Given the description of an element on the screen output the (x, y) to click on. 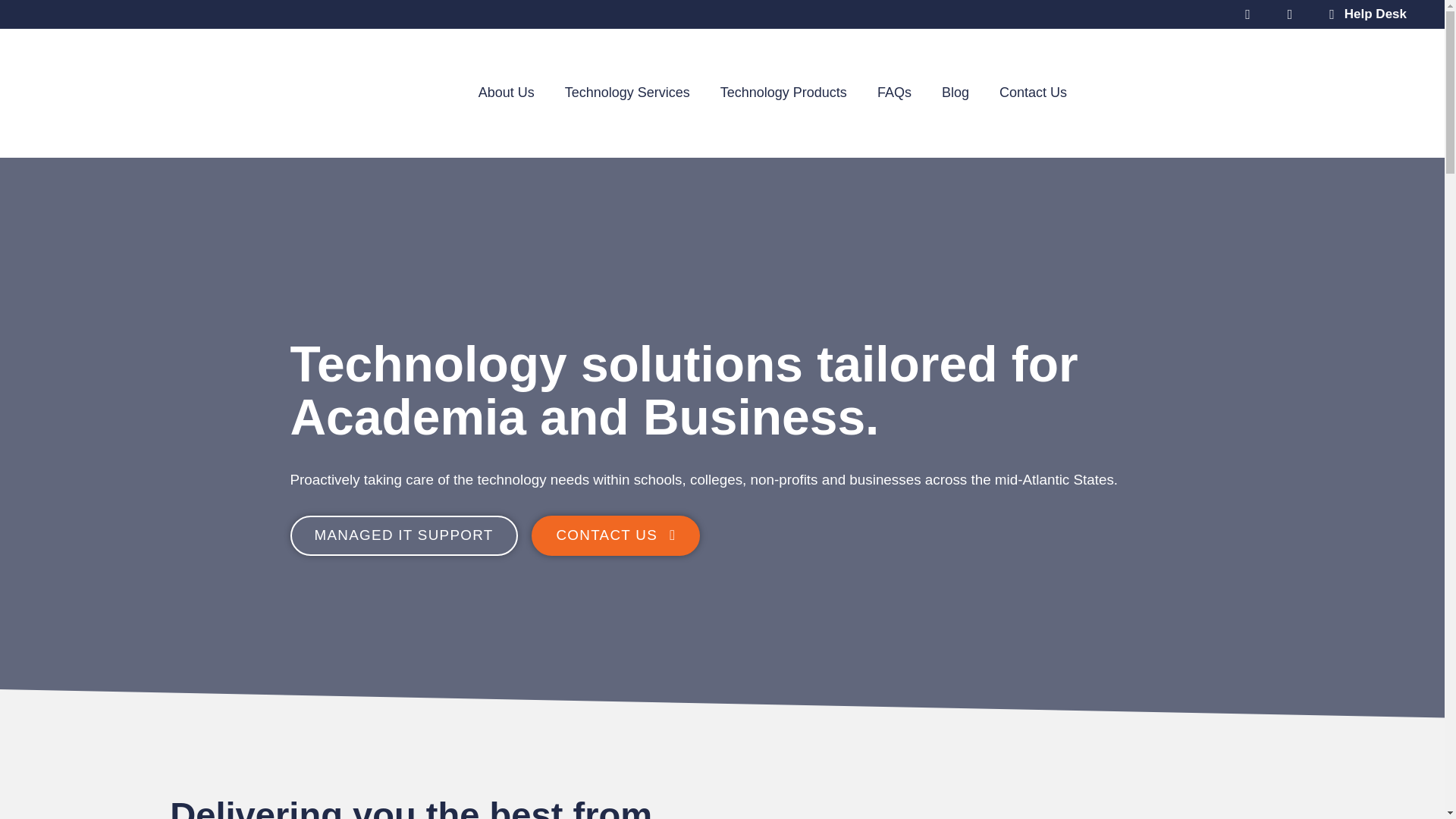
Technology Products (782, 92)
Blog (955, 92)
Help Desk (1361, 14)
FAQs (893, 92)
Technology Services (627, 92)
CONTACT US (615, 535)
MANAGED IT SUPPORT (402, 535)
Contact Us (1032, 92)
About Us (506, 92)
